Given the description of an element on the screen output the (x, y) to click on. 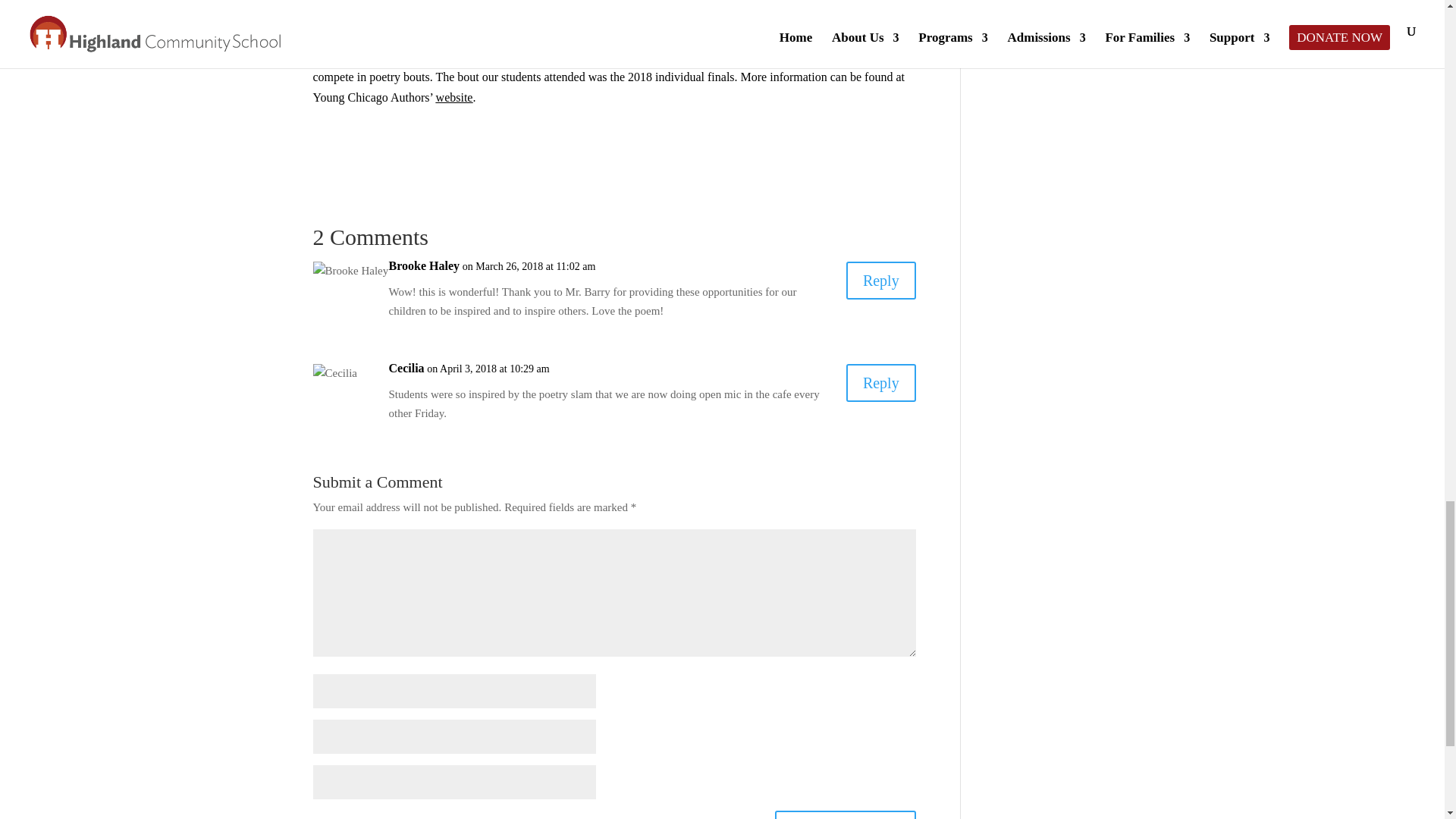
Submit Comment (844, 814)
